Given the description of an element on the screen output the (x, y) to click on. 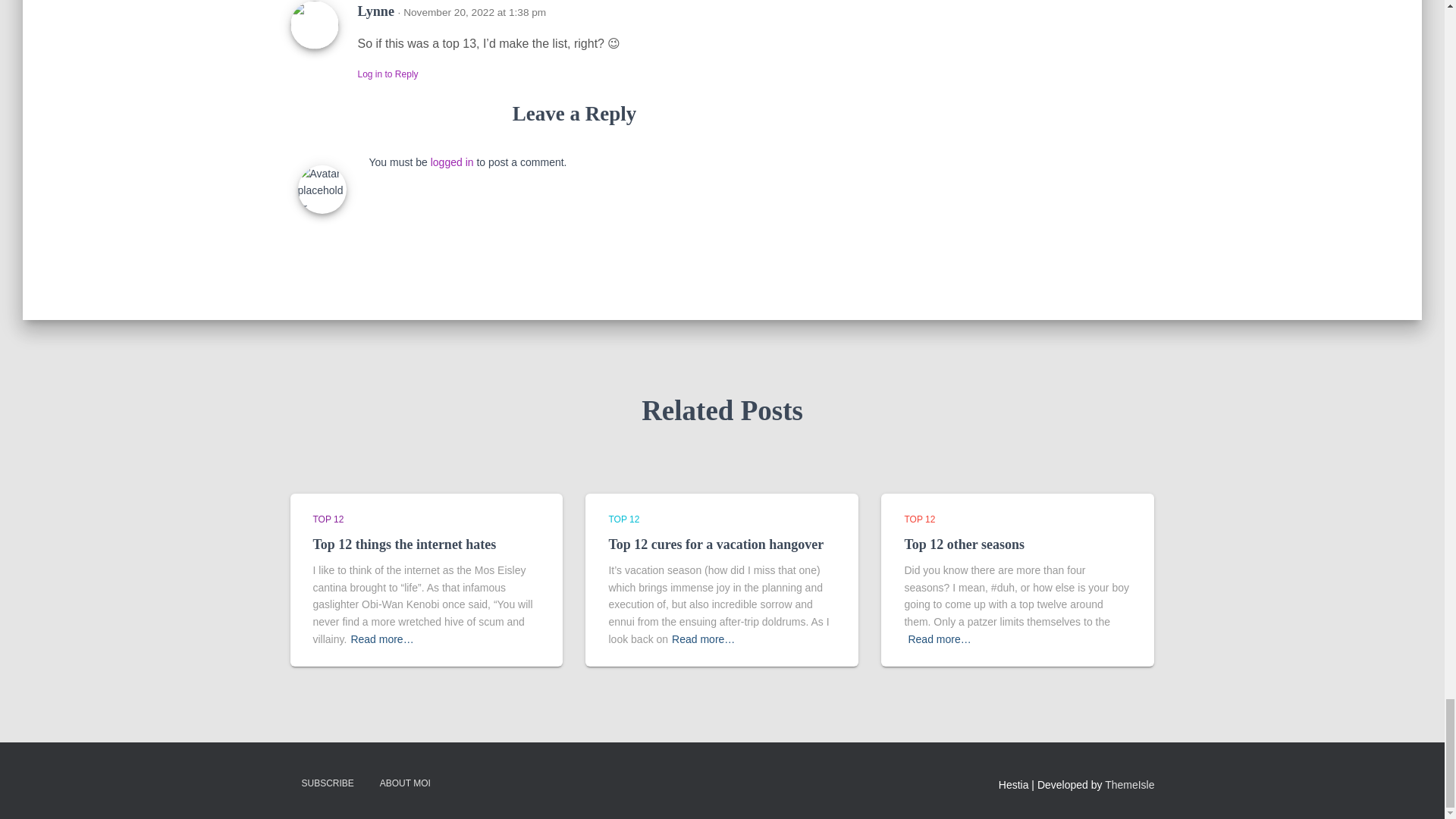
View all posts in Top 12 (623, 519)
logged in (452, 162)
View all posts in Top 12 (919, 519)
View all posts in Top 12 (328, 519)
Top 12 cures for a vacation hangover (716, 544)
Top 12 things the internet hates (404, 544)
Top 12 other seasons (964, 544)
Log in to Reply (388, 73)
